Given the description of an element on the screen output the (x, y) to click on. 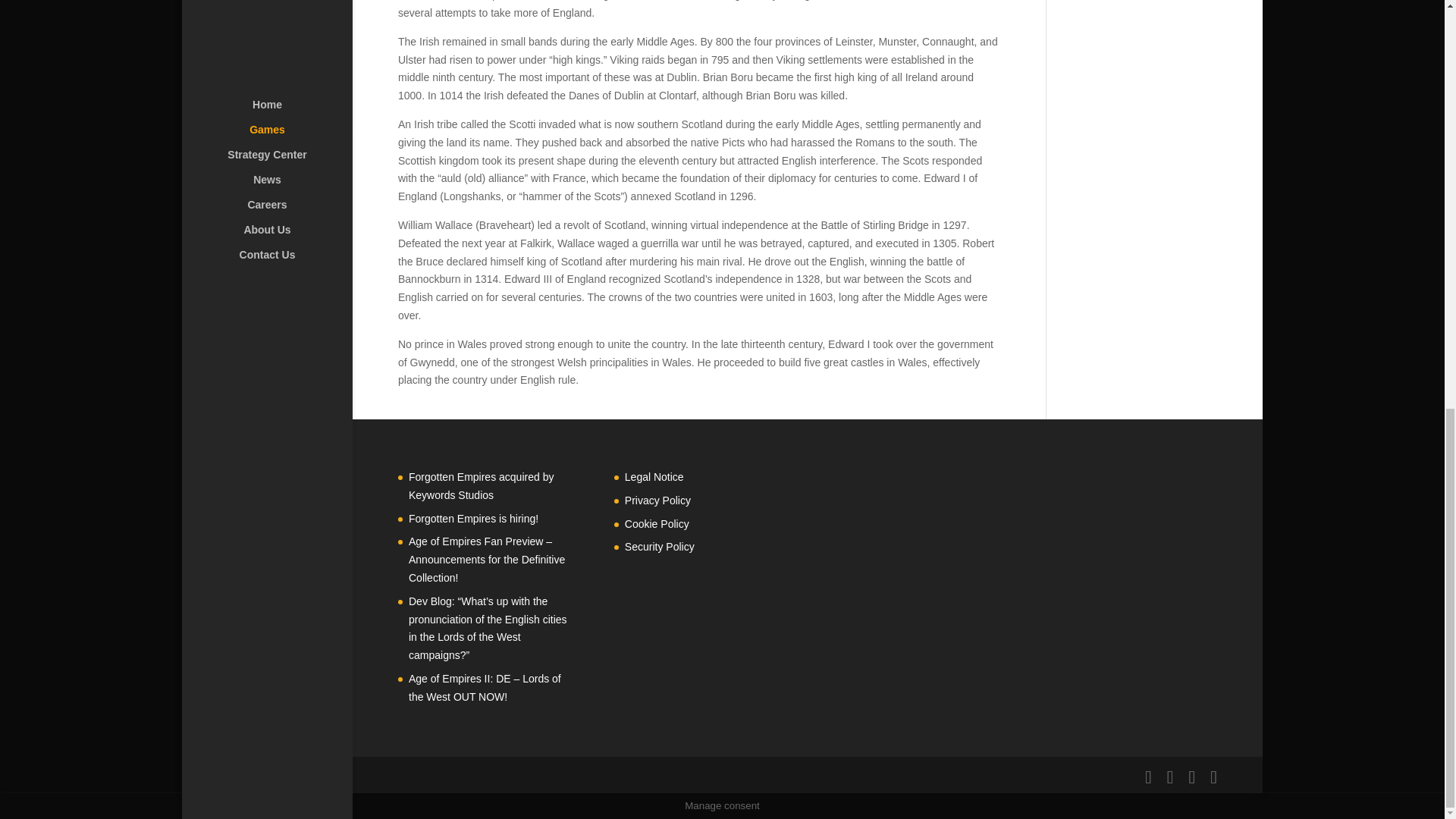
Forgotten Empires is hiring! (473, 518)
Forgotten Empires acquired by Keywords Studios (481, 485)
